Given the description of an element on the screen output the (x, y) to click on. 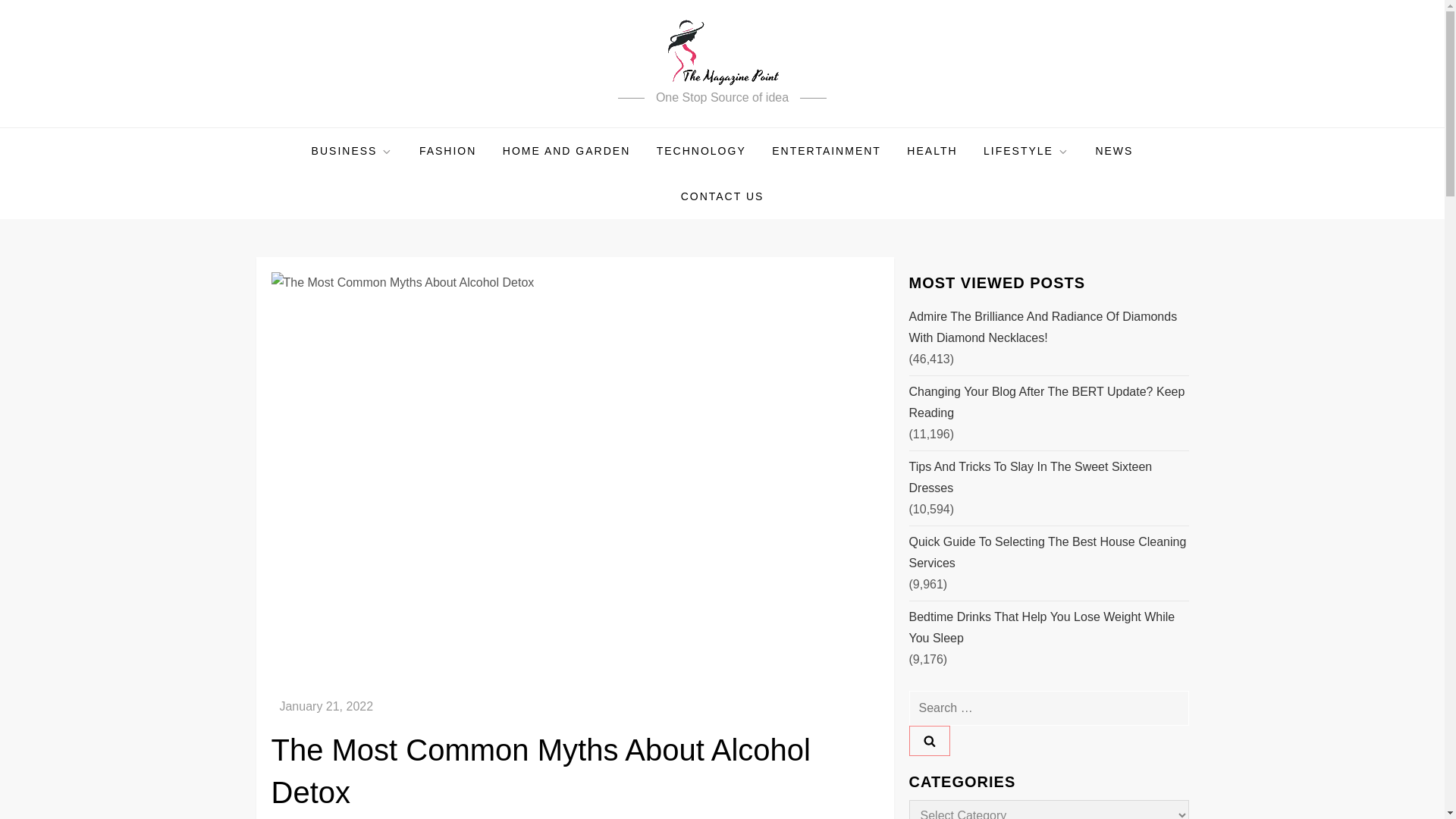
NEWS (1113, 150)
HOME AND GARDEN (567, 150)
LIFESTYLE (1026, 150)
TECHNOLOGY (701, 150)
BUSINESS (351, 150)
CONTACT US (722, 196)
ENTERTAINMENT (826, 150)
FASHION (447, 150)
HEALTH (931, 150)
